Given the description of an element on the screen output the (x, y) to click on. 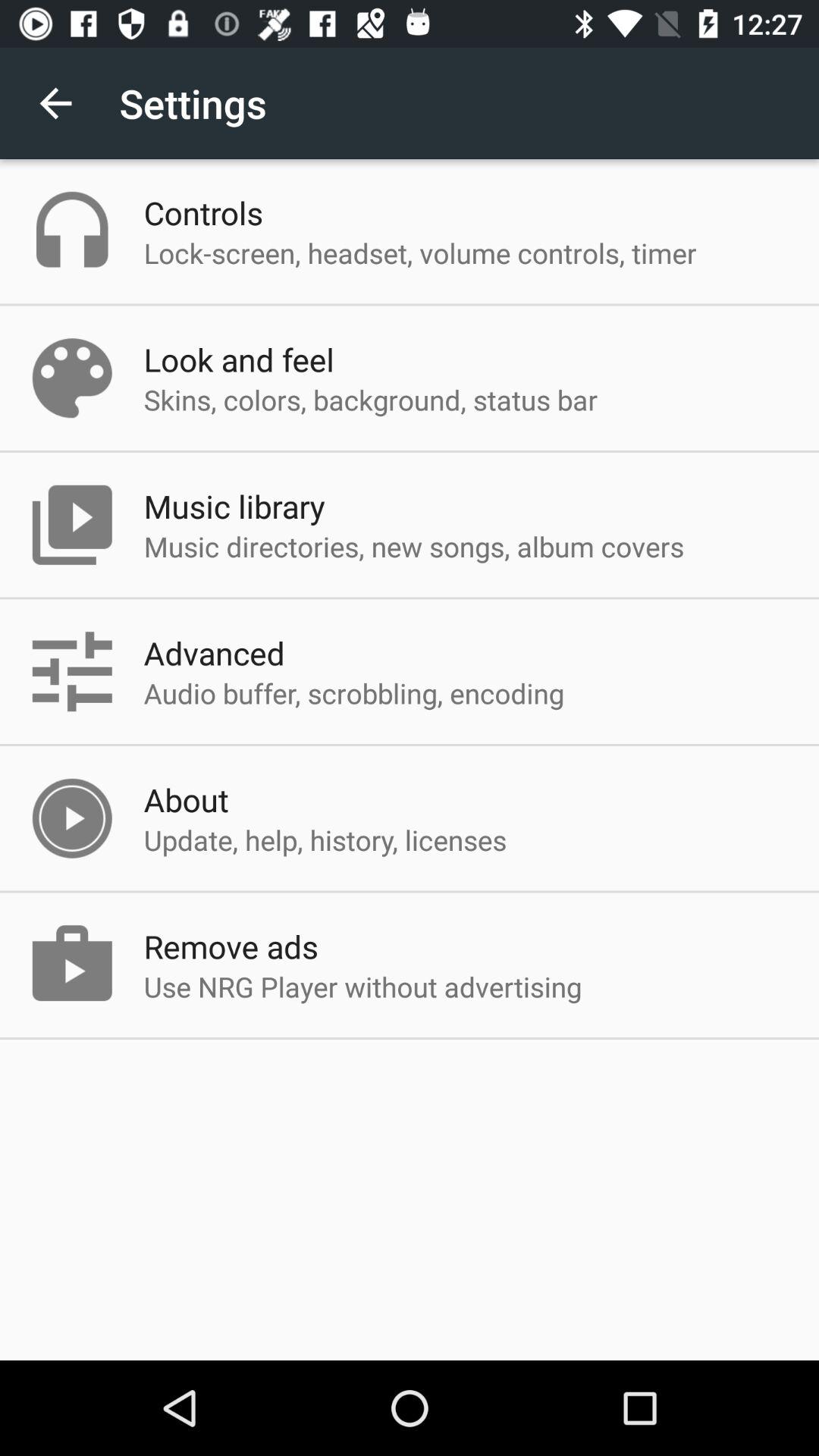
open the lock screen headset item (419, 252)
